Given the description of an element on the screen output the (x, y) to click on. 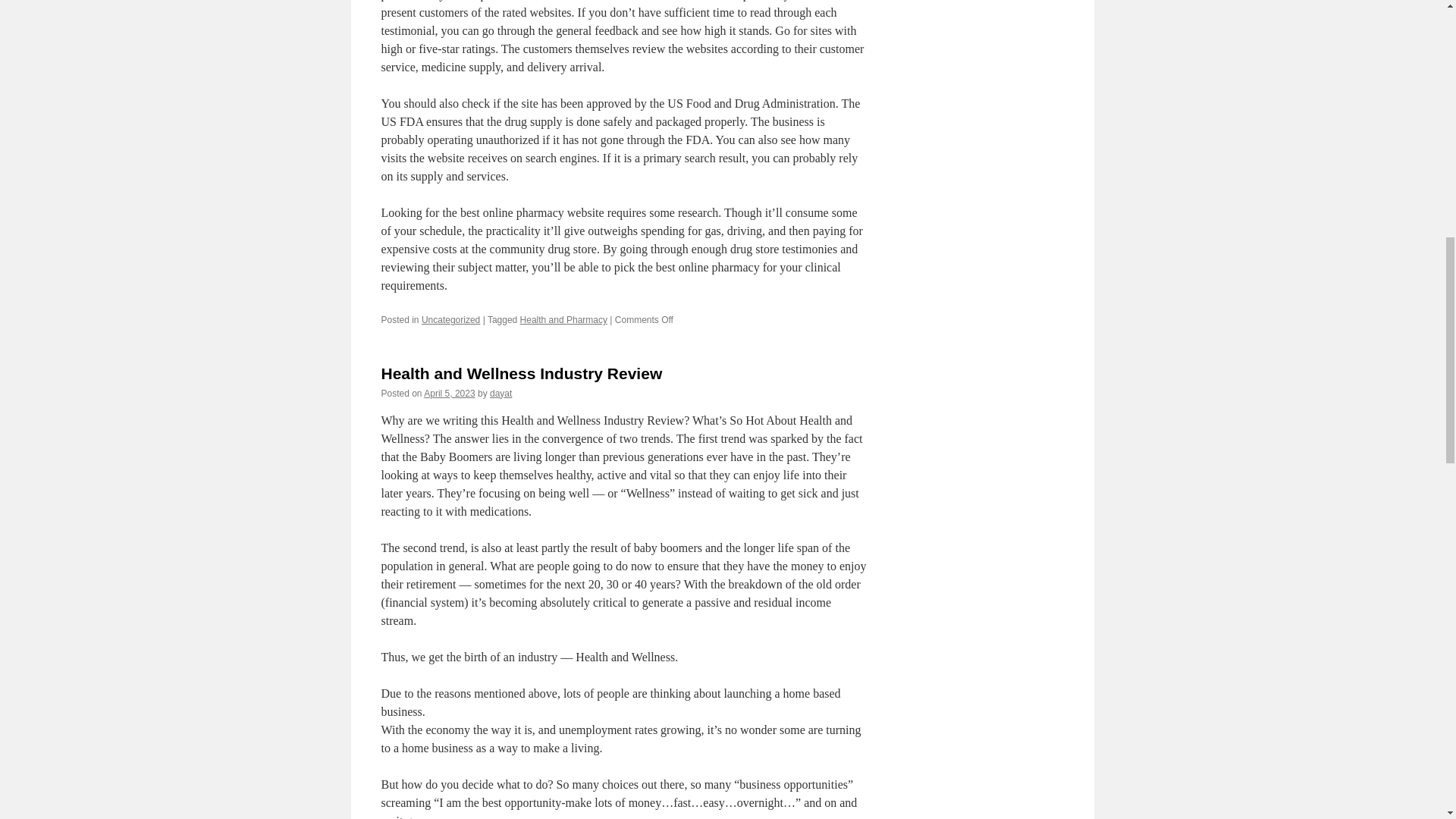
View all posts by dayat (500, 393)
dayat (500, 393)
April 5, 2023 (448, 393)
View all posts in Uncategorized (451, 319)
Uncategorized (451, 319)
8:25 pm (448, 393)
Health and Wellness Industry Review (521, 373)
Health and Pharmacy (563, 319)
